Given the description of an element on the screen output the (x, y) to click on. 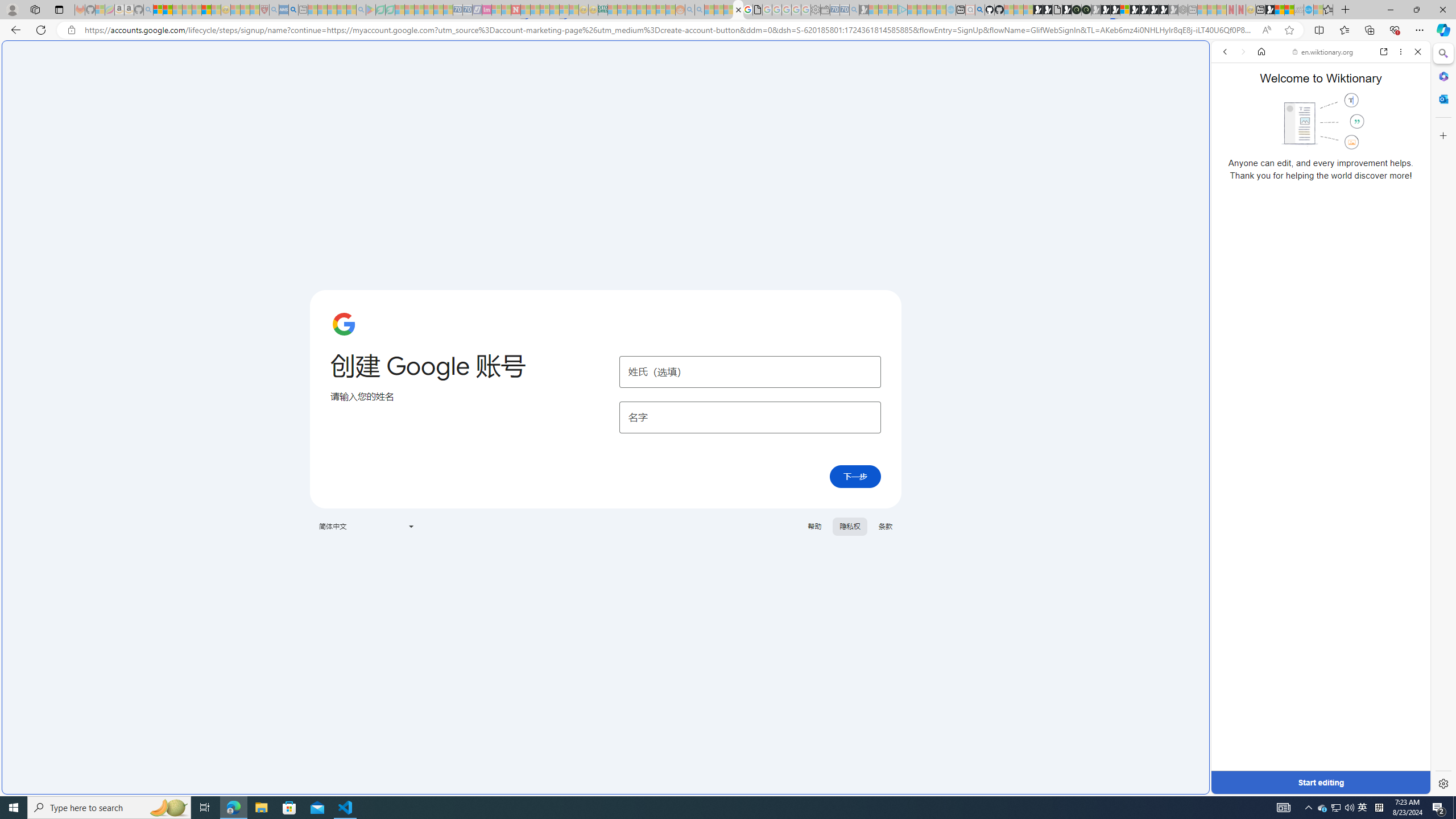
github - Search (979, 9)
Sign in to your account (1124, 9)
